Given the description of an element on the screen output the (x, y) to click on. 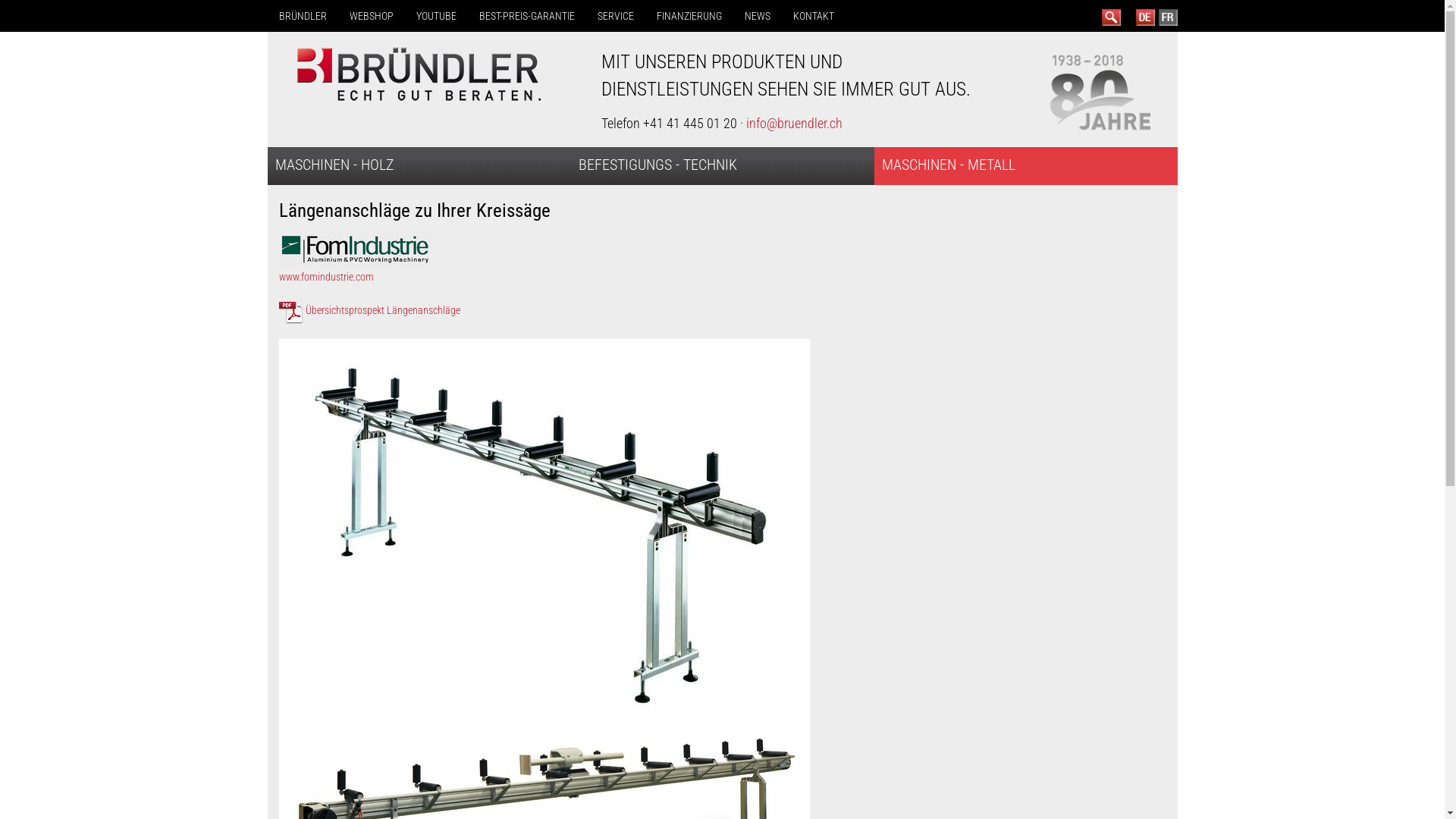
FINANZIERUNG Element type: text (688, 15)
WEBSHOP Element type: text (371, 15)
KONTAKT Element type: text (812, 15)
YOUTUBE Element type: text (435, 15)
www.fomindustrie.com Element type: text (354, 261)
BEST-PREIS-GARANTIE Element type: text (526, 15)
info@bruendler.ch Element type: text (794, 123)
